Given the description of an element on the screen output the (x, y) to click on. 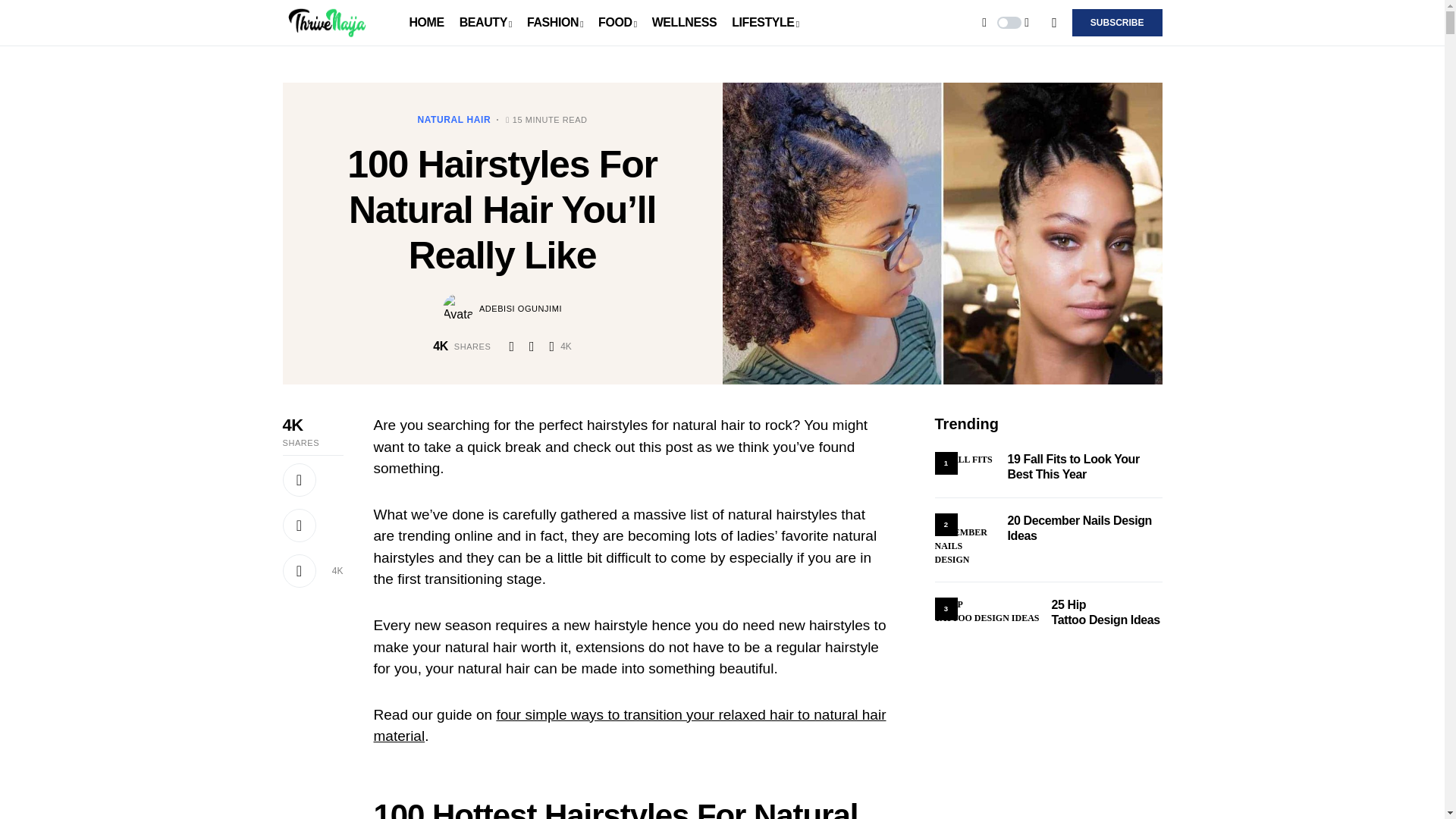
WELLNESS (684, 22)
FASHION (555, 22)
LIFESTYLE (764, 22)
BEAUTY (486, 22)
